Given the description of an element on the screen output the (x, y) to click on. 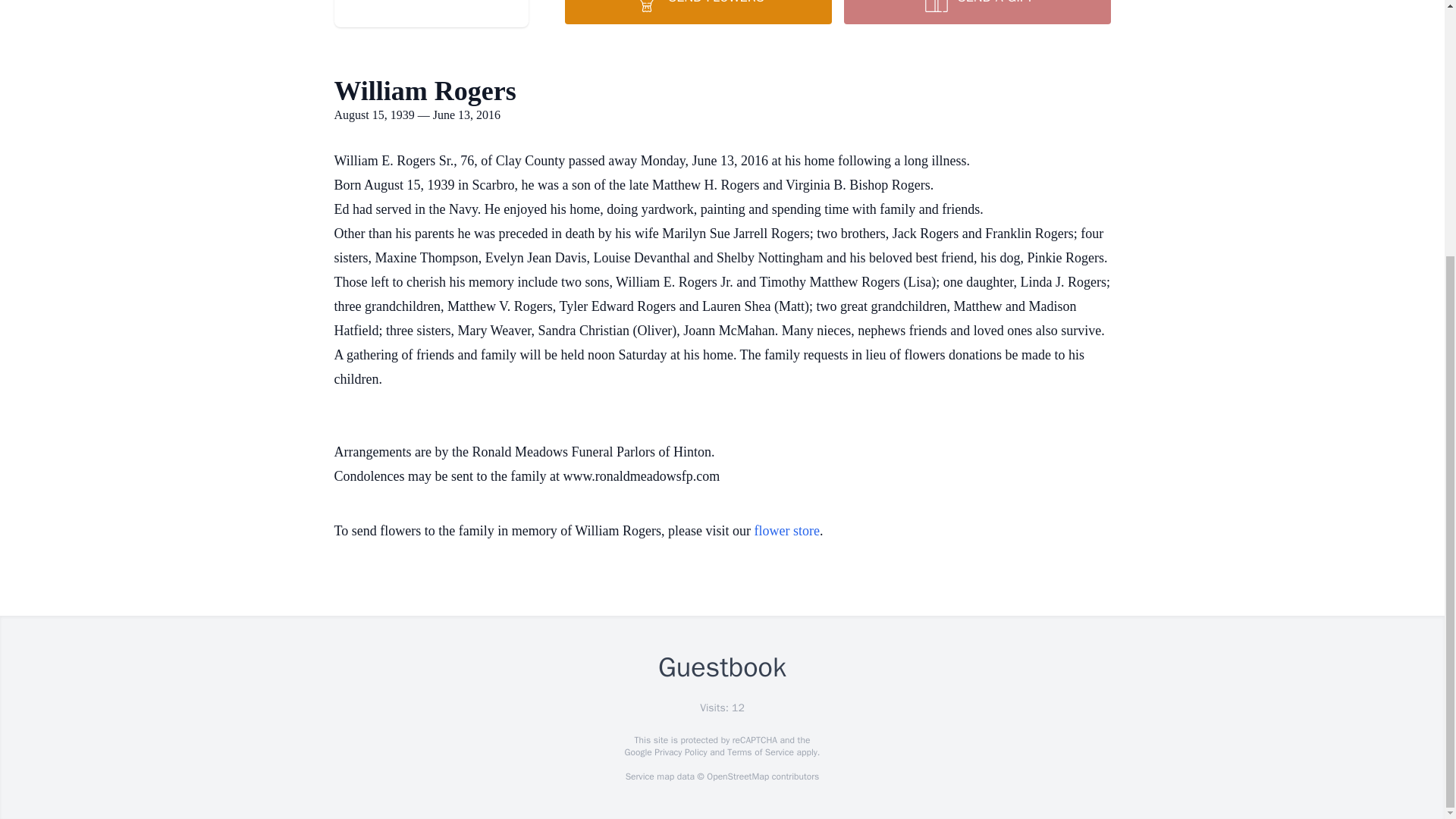
Privacy Policy (679, 752)
OpenStreetMap (737, 776)
SEND FLOWERS (697, 12)
SEND A GIFT (976, 12)
Terms of Service (759, 752)
flower store (786, 530)
